Given the description of an element on the screen output the (x, y) to click on. 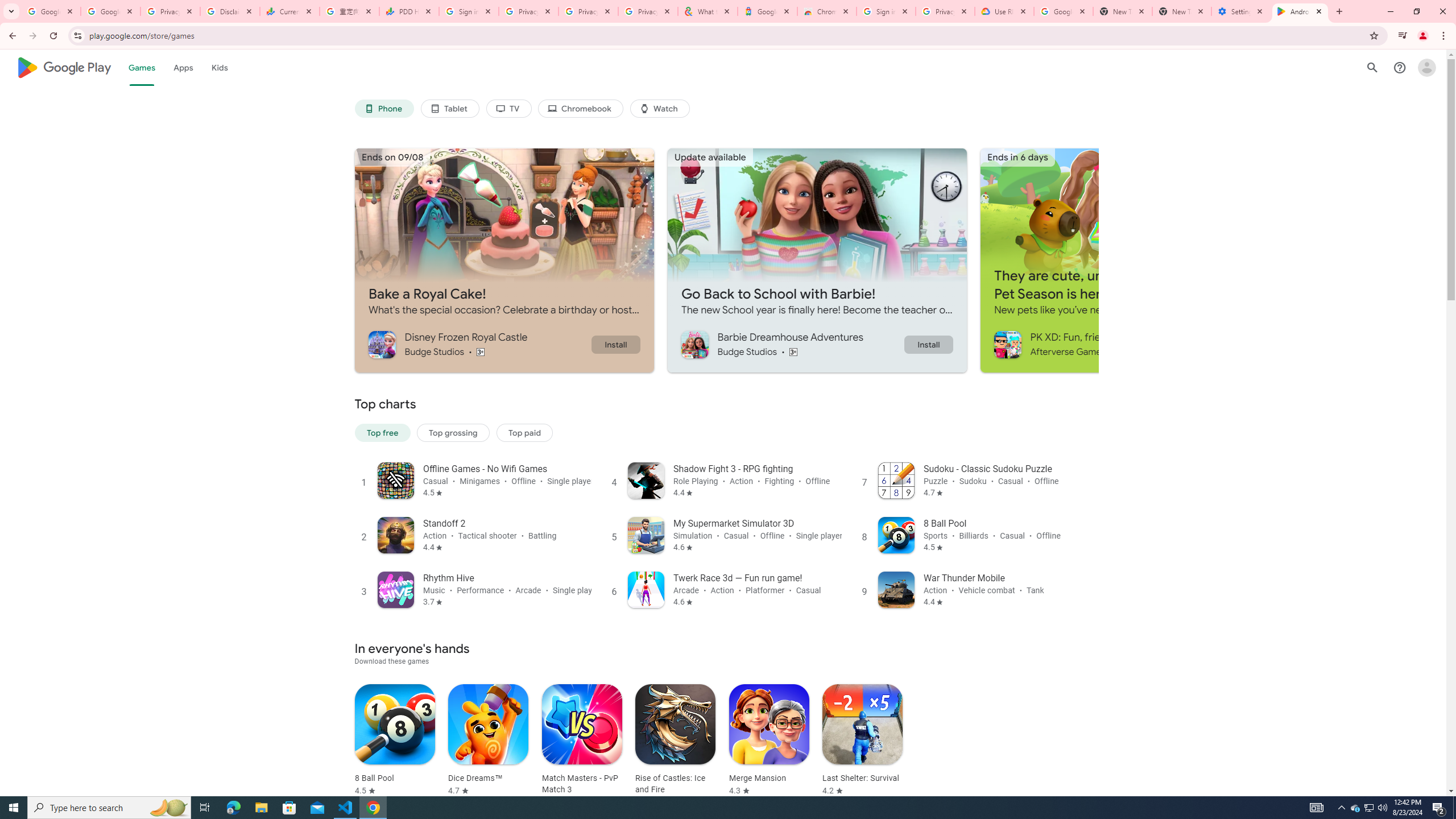
Google (767, 11)
Privacy Checkup (647, 11)
Open account menu (1426, 67)
Merge Mansion Rated 4.3 stars out of five stars (768, 739)
Kids (219, 67)
TV (508, 108)
Tablet (449, 108)
Apps (182, 67)
